Given the description of an element on the screen output the (x, y) to click on. 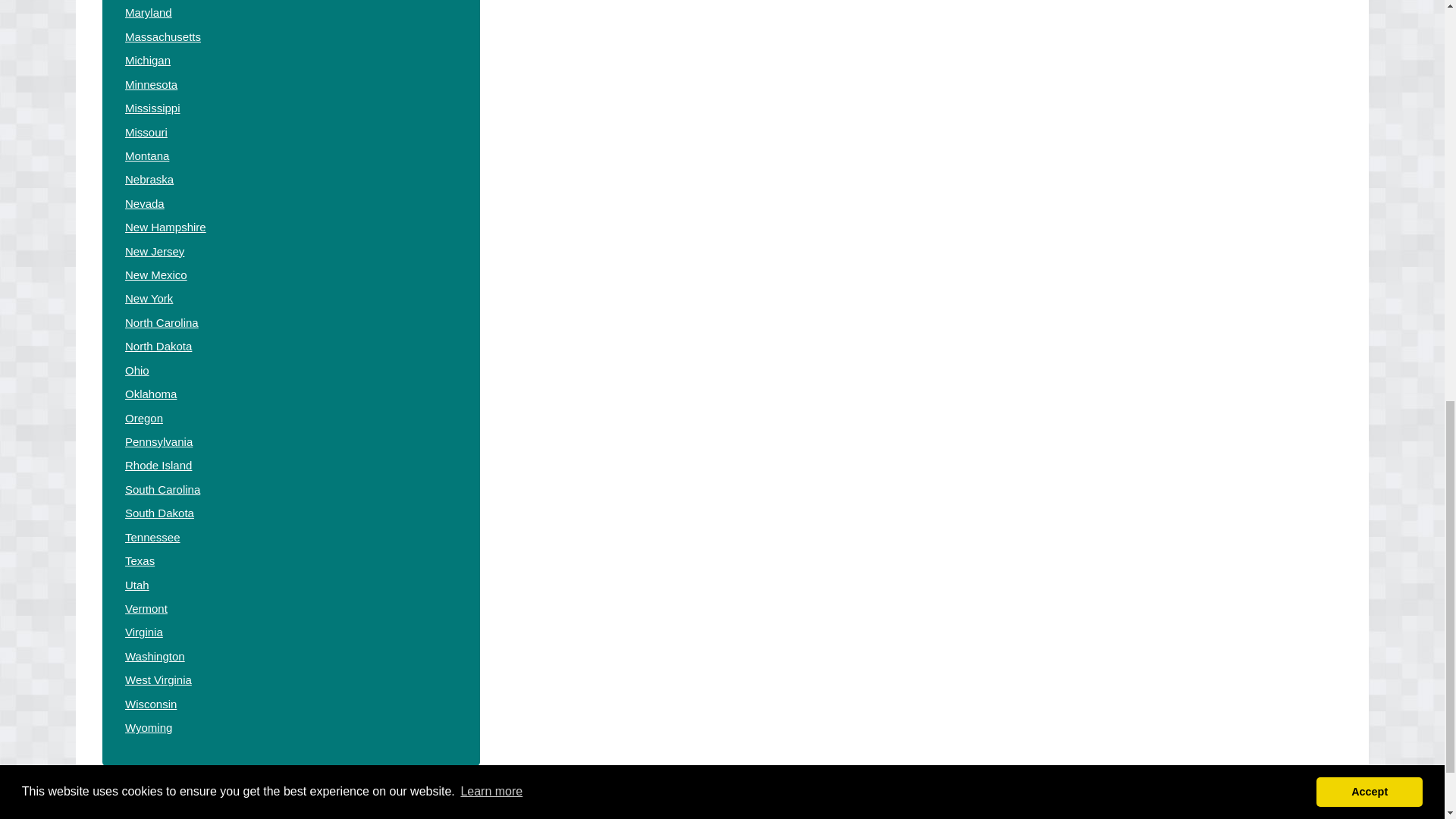
Missouri (146, 132)
Michigan (147, 60)
New Mexico (156, 274)
Minnesota (151, 83)
Nevada (144, 203)
Montana (146, 155)
New Hampshire (165, 226)
Nebraska (149, 178)
Mississippi (152, 107)
Maryland (148, 11)
Massachusetts (162, 36)
New York (149, 297)
New Jersey (154, 250)
